Given the description of an element on the screen output the (x, y) to click on. 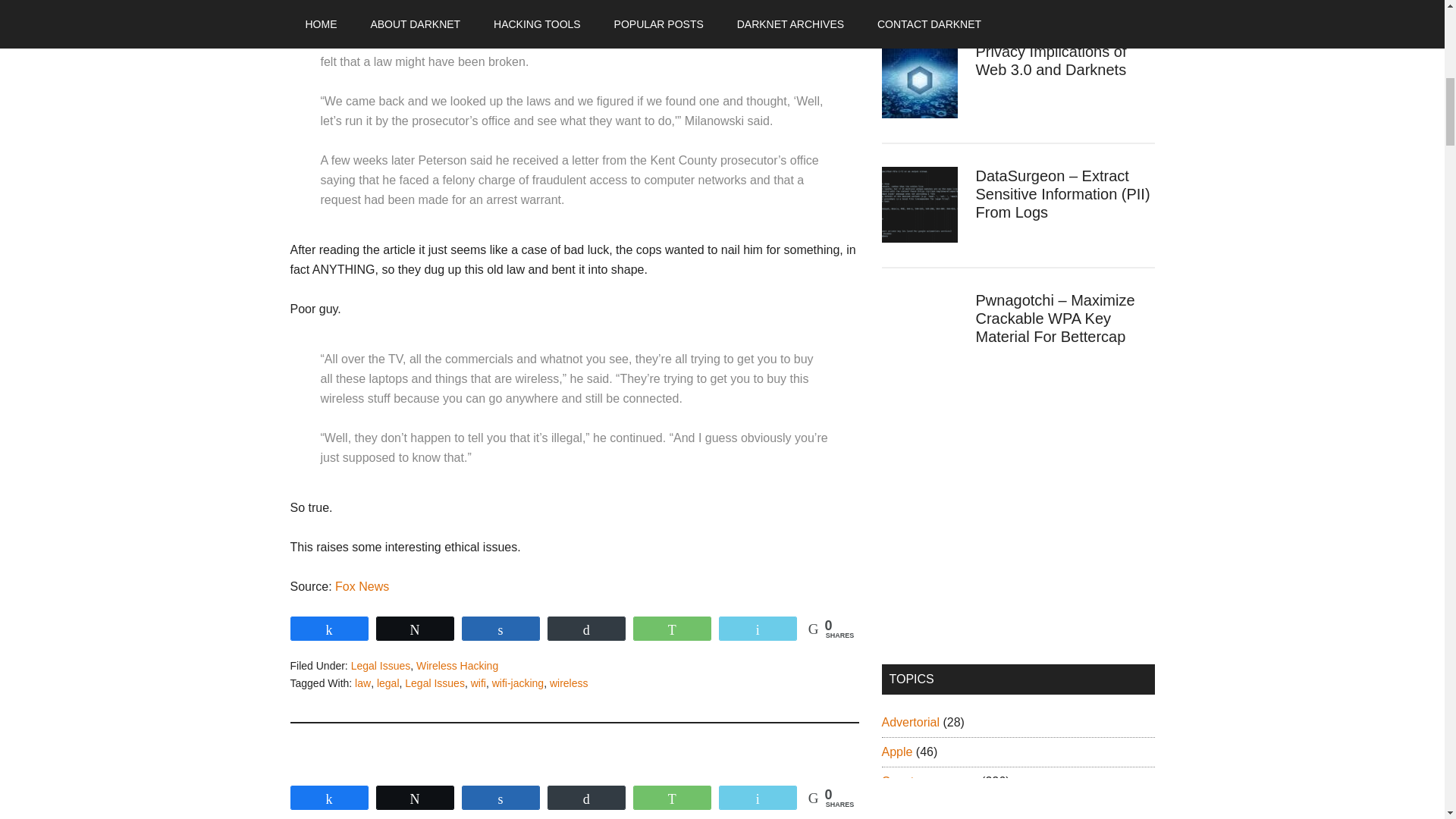
wireless (569, 682)
wifi-jacking (517, 682)
legal (387, 682)
Fox News (361, 585)
Legal Issues (434, 682)
Legal Issues (380, 665)
law (363, 682)
Wireless Hacking (456, 665)
wifi (478, 682)
